Given the description of an element on the screen output the (x, y) to click on. 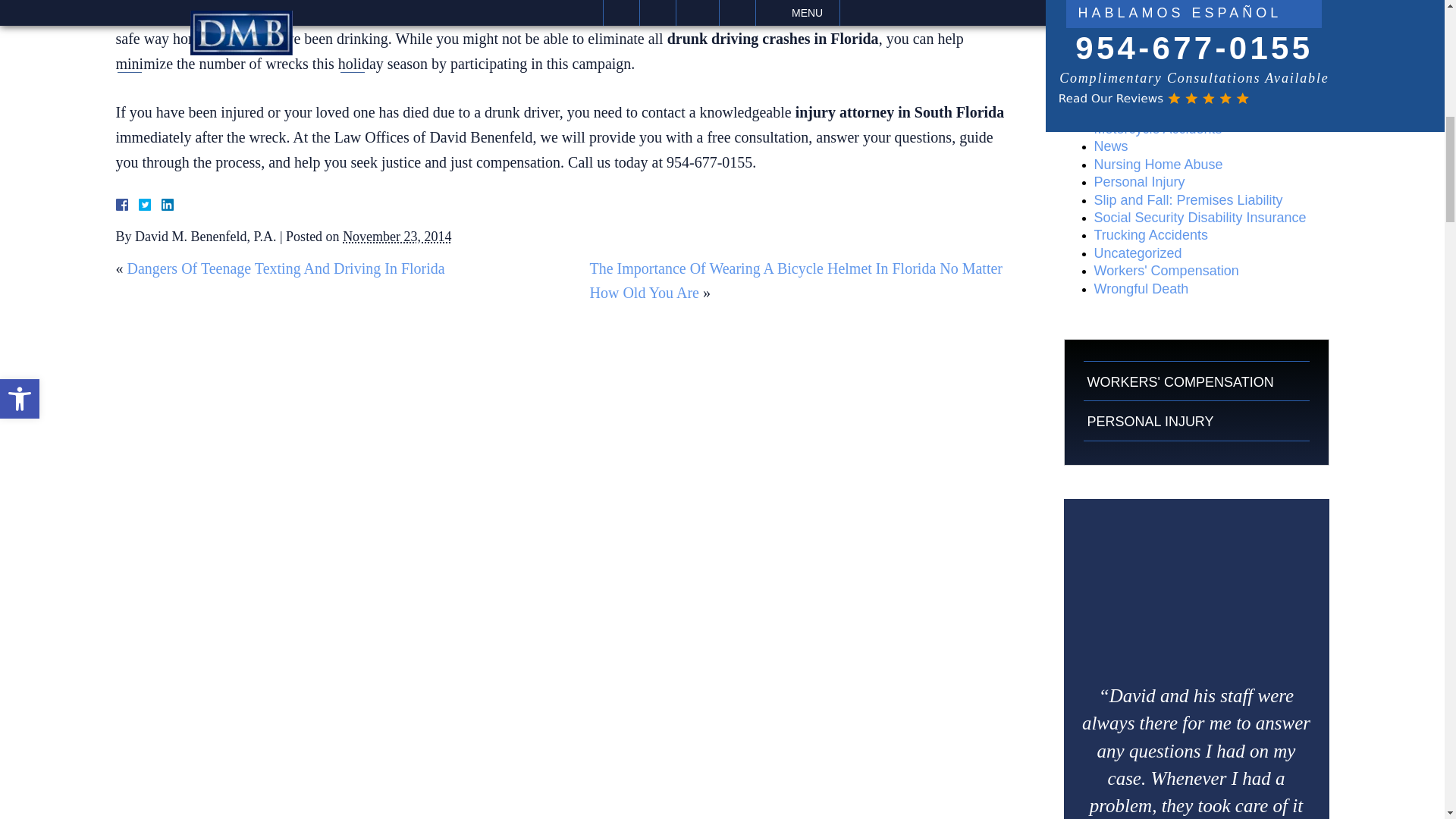
LinkedIn (160, 204)
Facebook (139, 204)
Twitter (149, 204)
2014-11-23T13:41:05-0800 (396, 236)
